Given the description of an element on the screen output the (x, y) to click on. 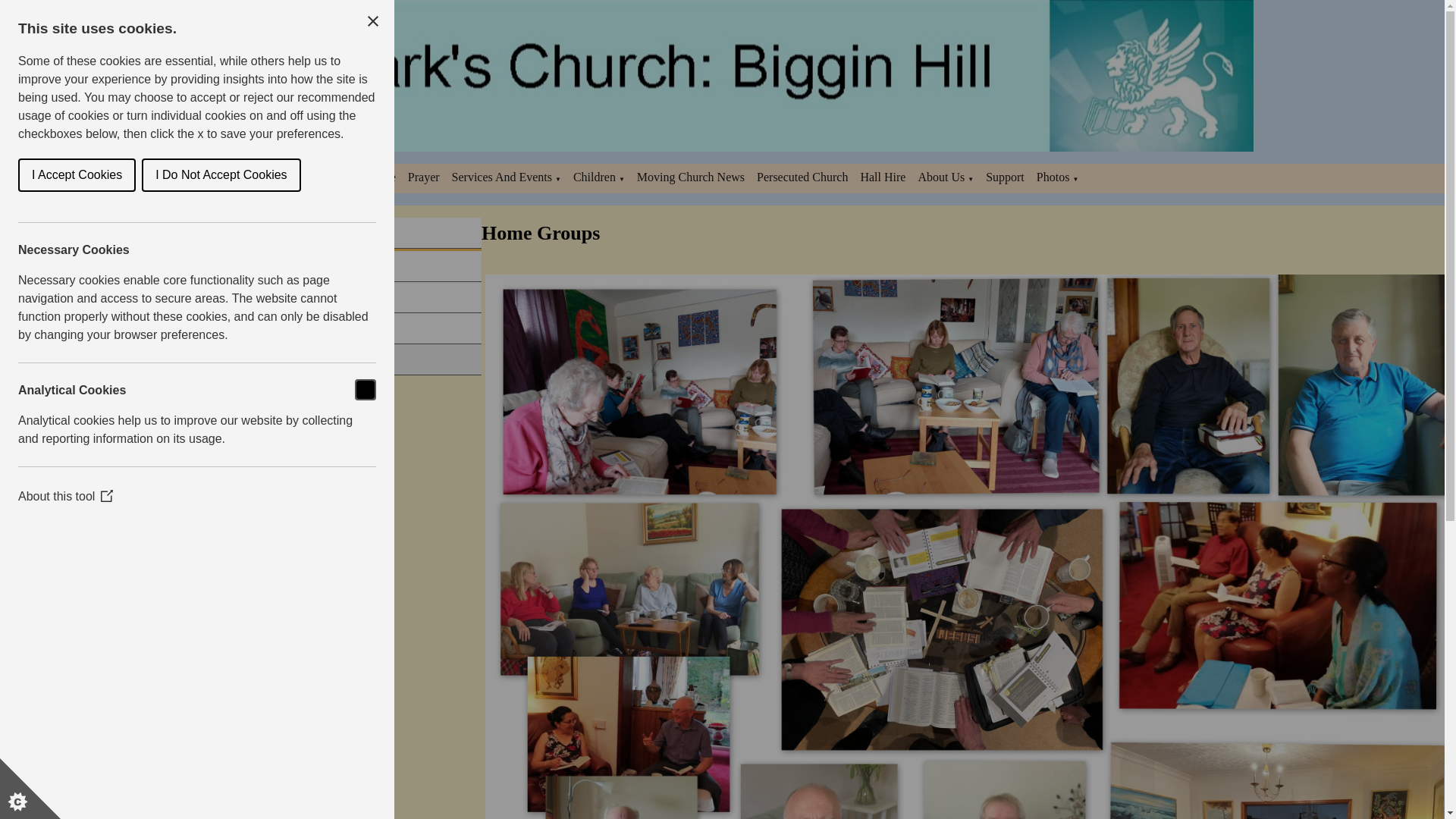
I Do Not Accept Cookies (105, 174)
